Given the description of an element on the screen output the (x, y) to click on. 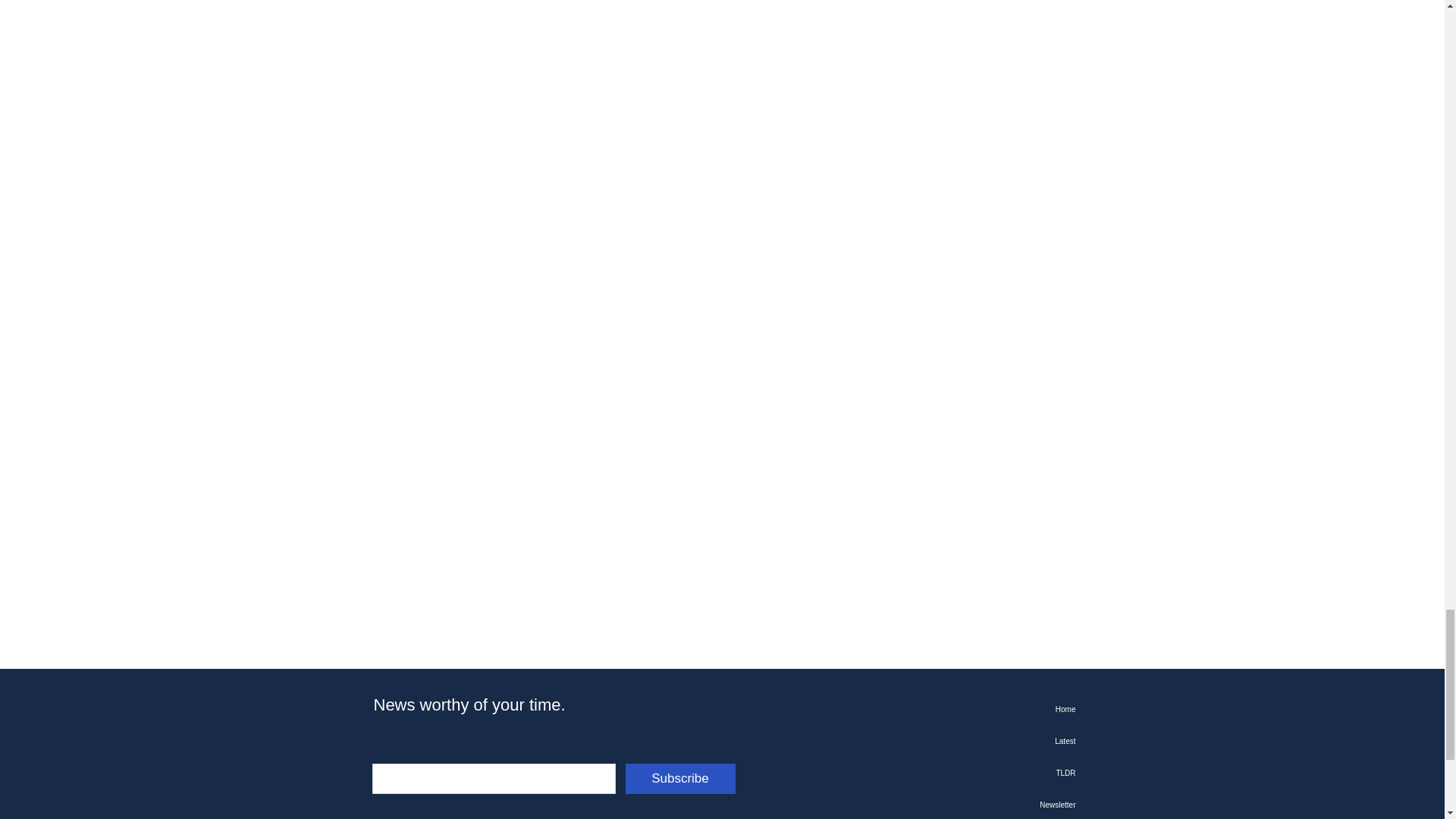
Subscribe (679, 778)
